Given the description of an element on the screen output the (x, y) to click on. 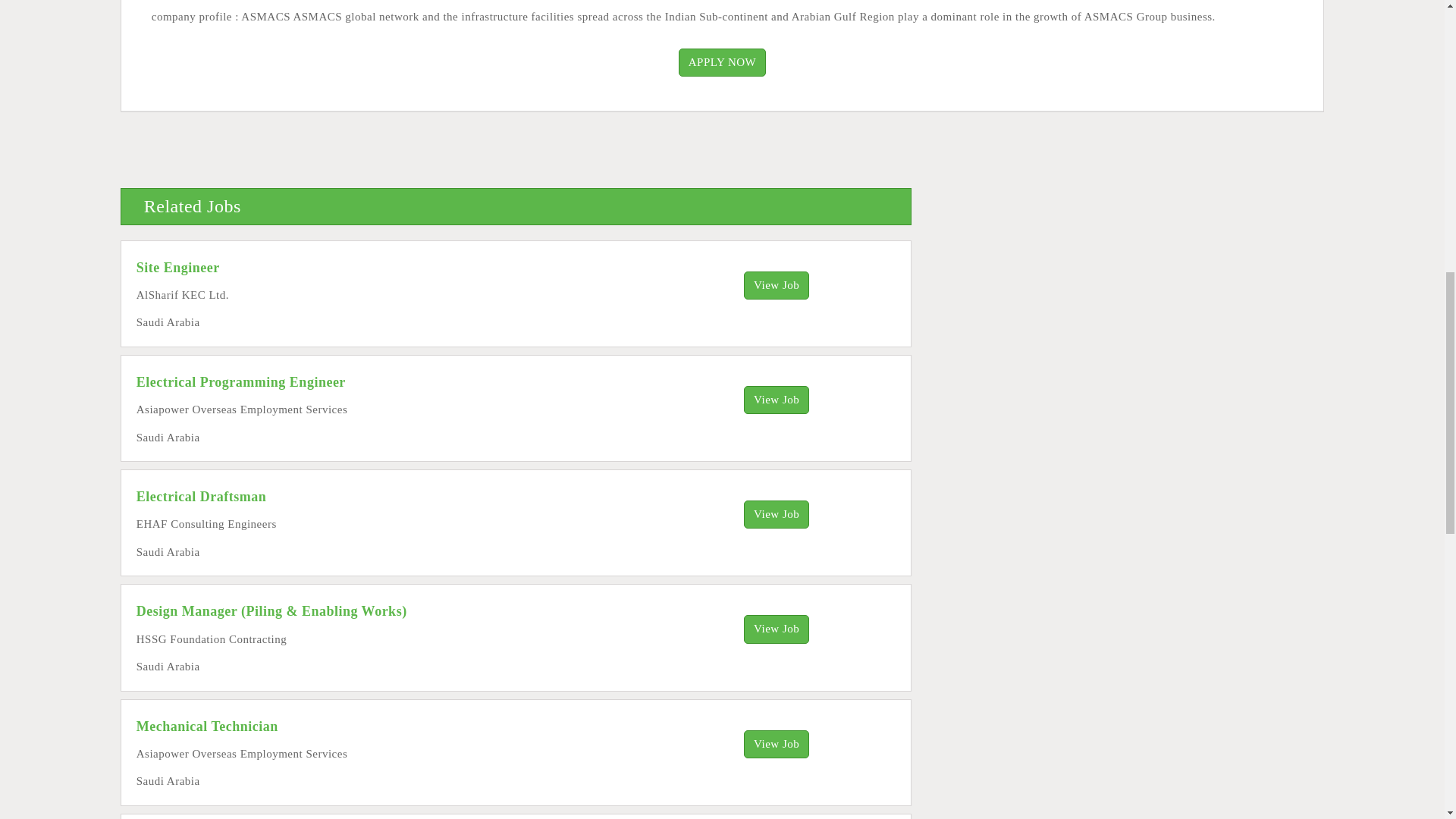
Electrical Programming Engineer (241, 381)
APPLY NOW (722, 62)
Electrical Draftsman (201, 496)
View Job (776, 399)
Site Engineer (177, 267)
Electrical Programming Engineer (241, 381)
Site Engineer (177, 267)
View Job (776, 514)
View Job (776, 743)
Advertisement (594, 22)
